Given the description of an element on the screen output the (x, y) to click on. 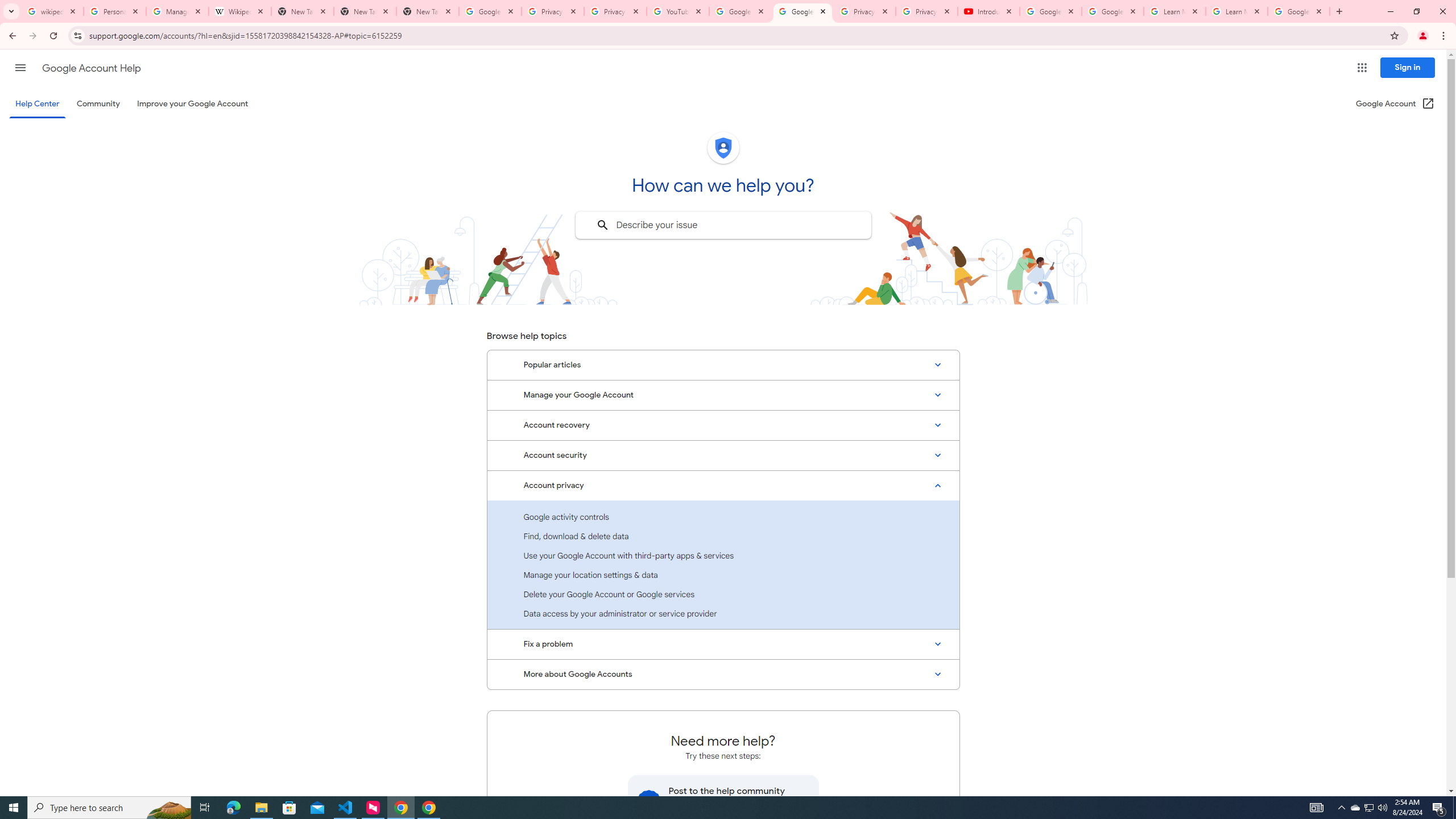
Delete your Google Account or Google services (722, 594)
